Given the description of an element on the screen output the (x, y) to click on. 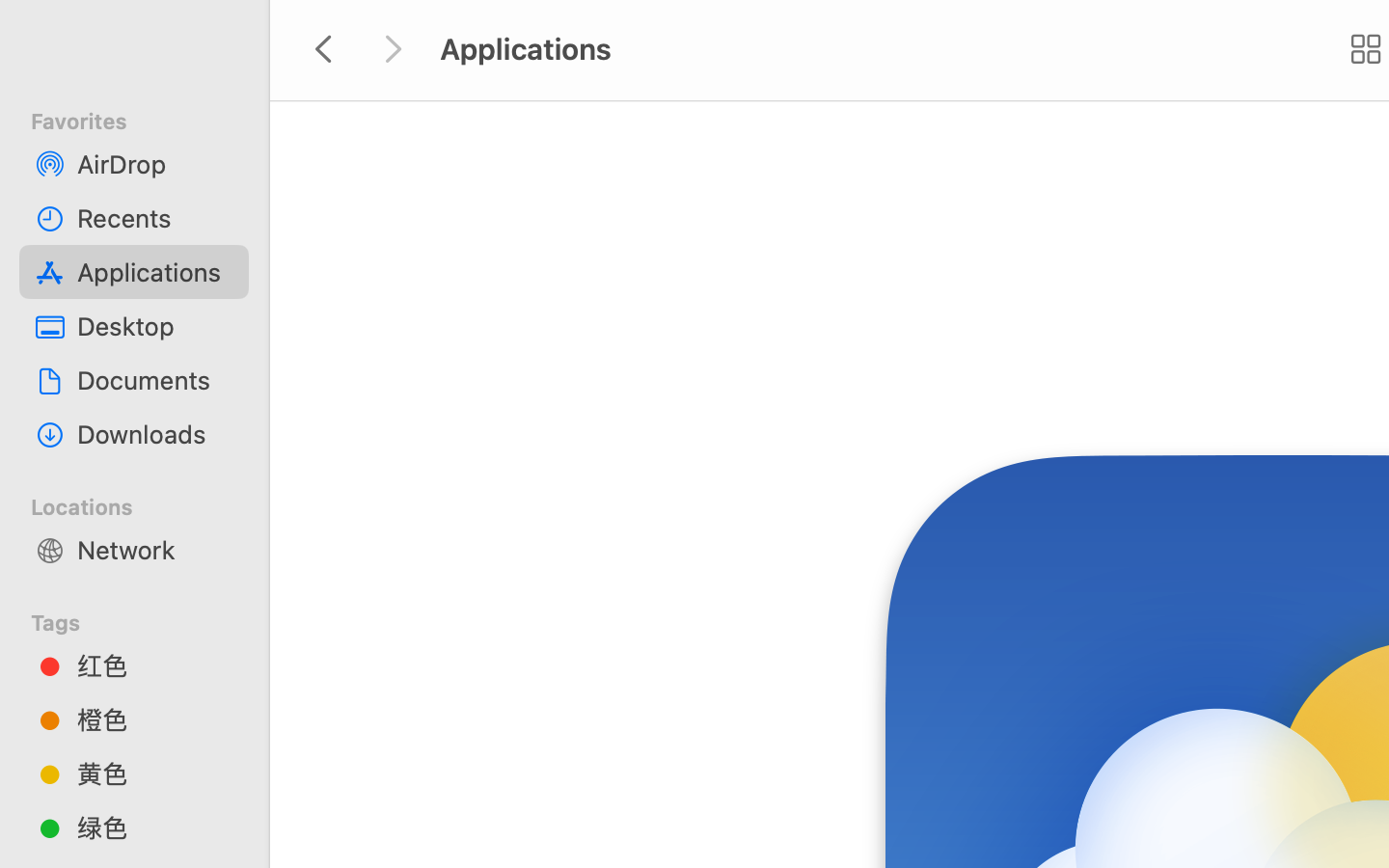
Downloads Element type: AXStaticText (155, 433)
绿色 Element type: AXStaticText (155, 827)
橙色 Element type: AXStaticText (155, 719)
Documents Element type: AXStaticText (155, 379)
Recents Element type: AXStaticText (155, 217)
